Given the description of an element on the screen output the (x, y) to click on. 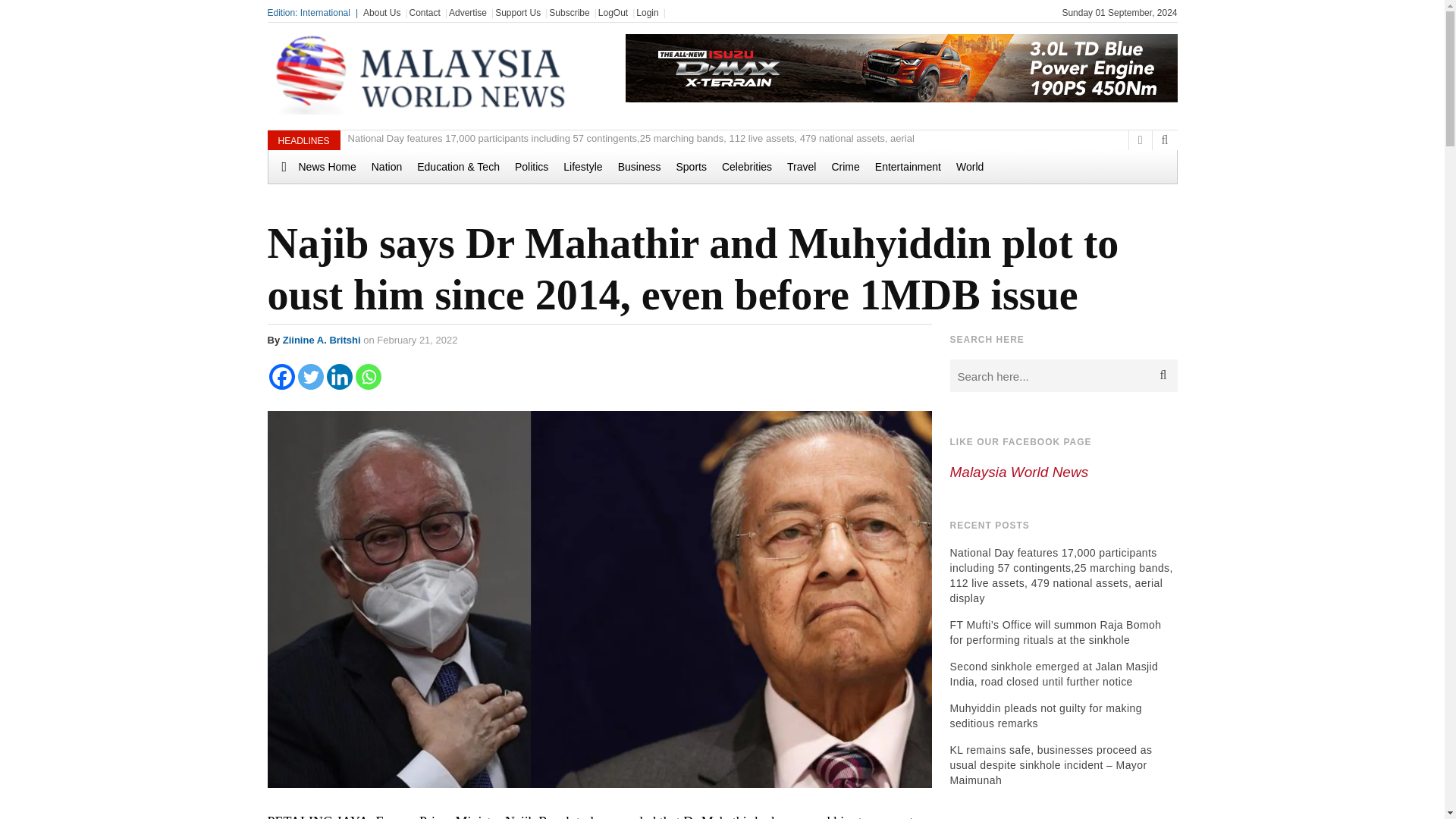
Twitter (310, 376)
Nation (386, 166)
About Us (381, 12)
Login (647, 12)
Facebook (280, 376)
Politics (531, 166)
News Home (319, 166)
Subscribe (568, 12)
Contact (425, 12)
